Given the description of an element on the screen output the (x, y) to click on. 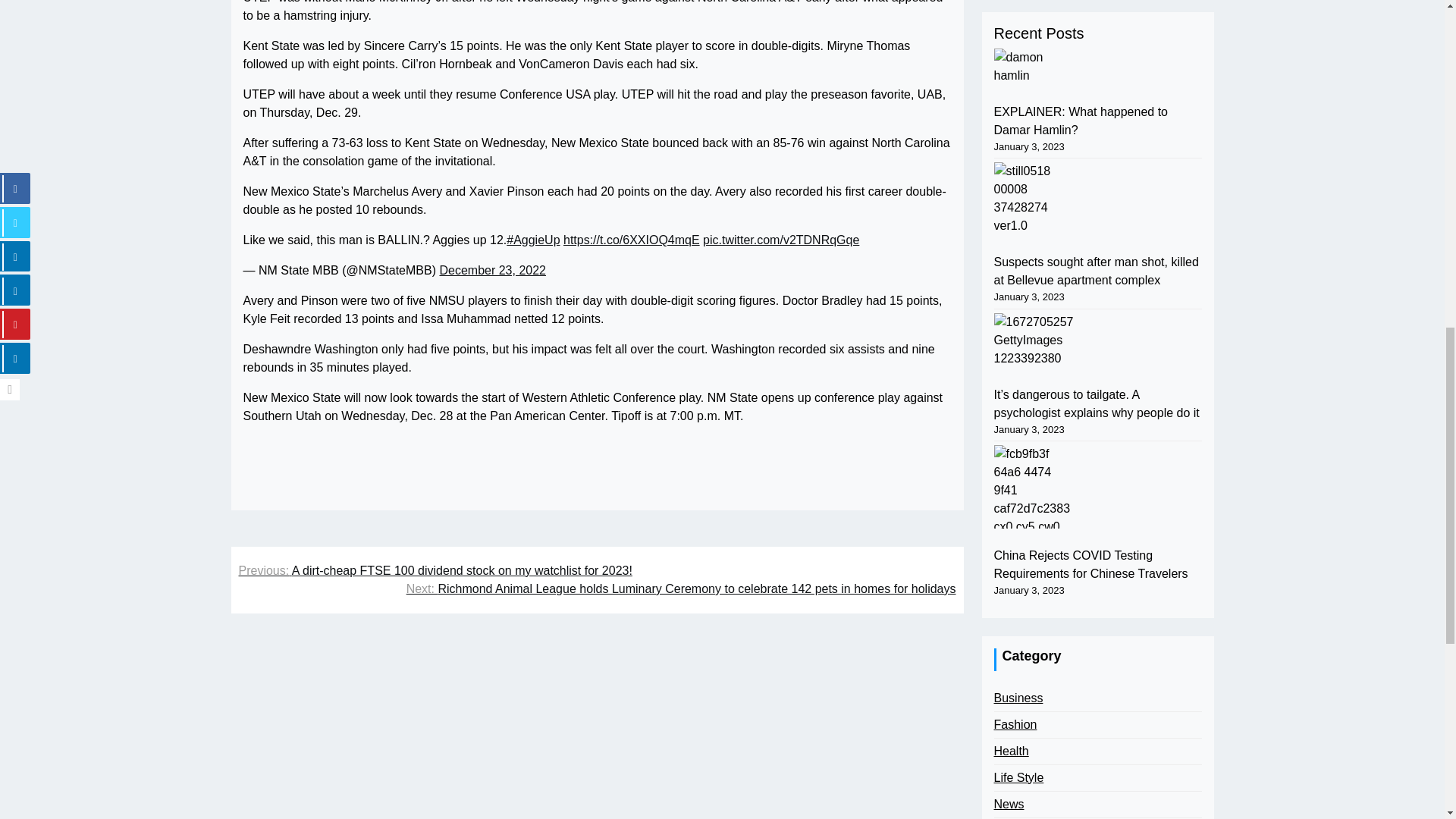
December 23, 2022 (492, 270)
